Given the description of an element on the screen output the (x, y) to click on. 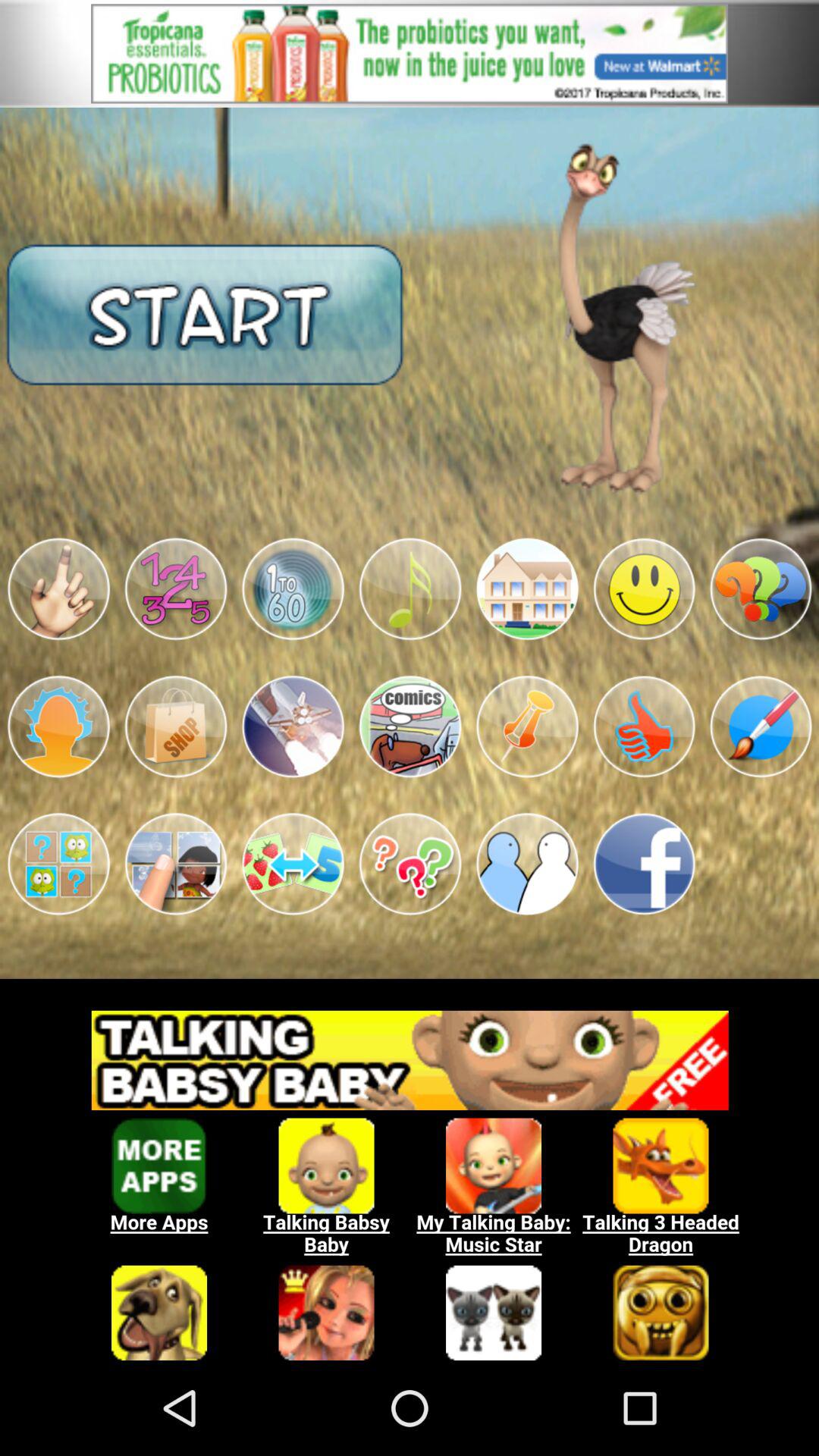
open an advertisement (409, 53)
